Given the description of an element on the screen output the (x, y) to click on. 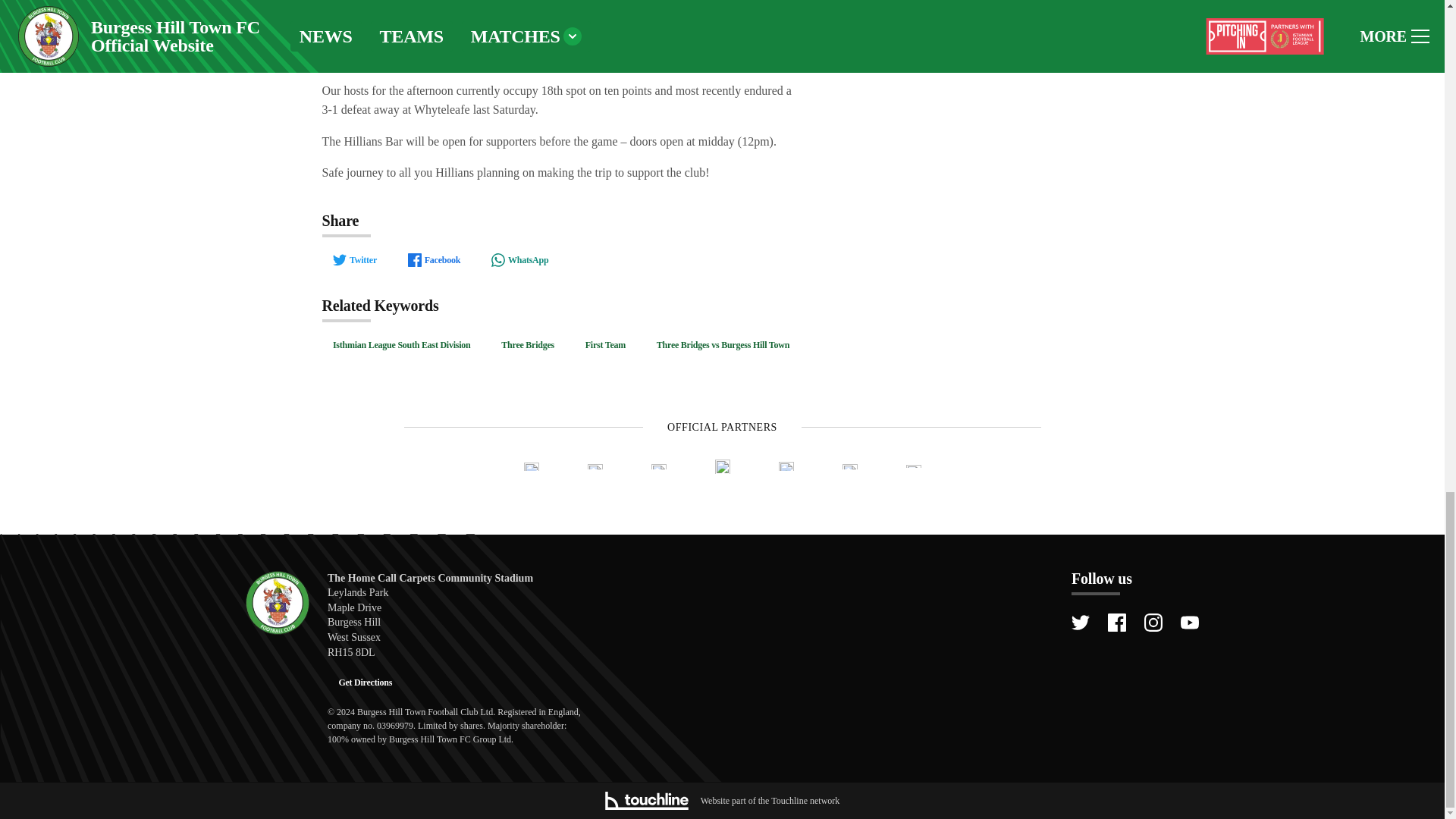
First Team (604, 344)
Find us on Instagram (1152, 622)
Three Bridges vs Burgess Hill Town (722, 344)
Find us on Facebook (1116, 622)
WhatsApp (519, 259)
Find us on YouTube (1189, 622)
Three Bridges (527, 344)
Facebook (433, 259)
Find us on Twitter (1080, 622)
Isthmian League South East Division (400, 344)
Twitter (354, 259)
